Given the description of an element on the screen output the (x, y) to click on. 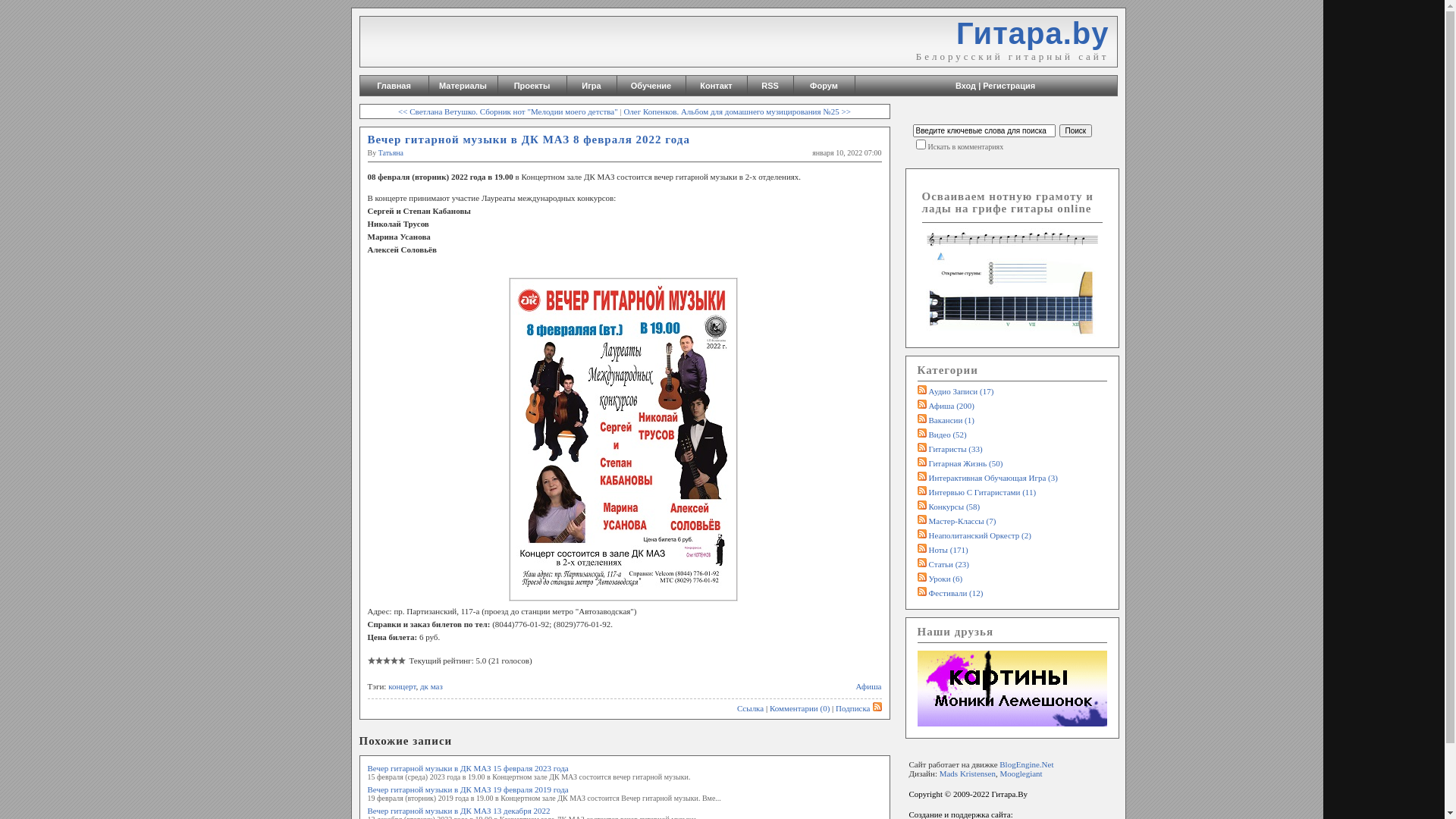
Mads Kristensen Element type: text (967, 773)
BlogEngine.Net Element type: text (1026, 763)
Mooglegiant Element type: text (1020, 773)
5 Element type: text (385, 665)
RSS Element type: text (770, 85)
